Given the description of an element on the screen output the (x, y) to click on. 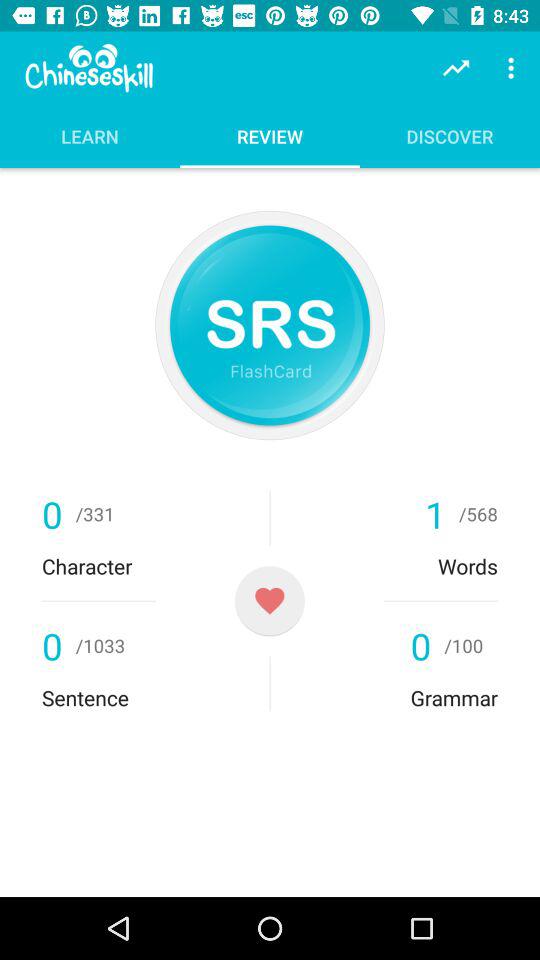
favorite a flashcard (269, 600)
